Given the description of an element on the screen output the (x, y) to click on. 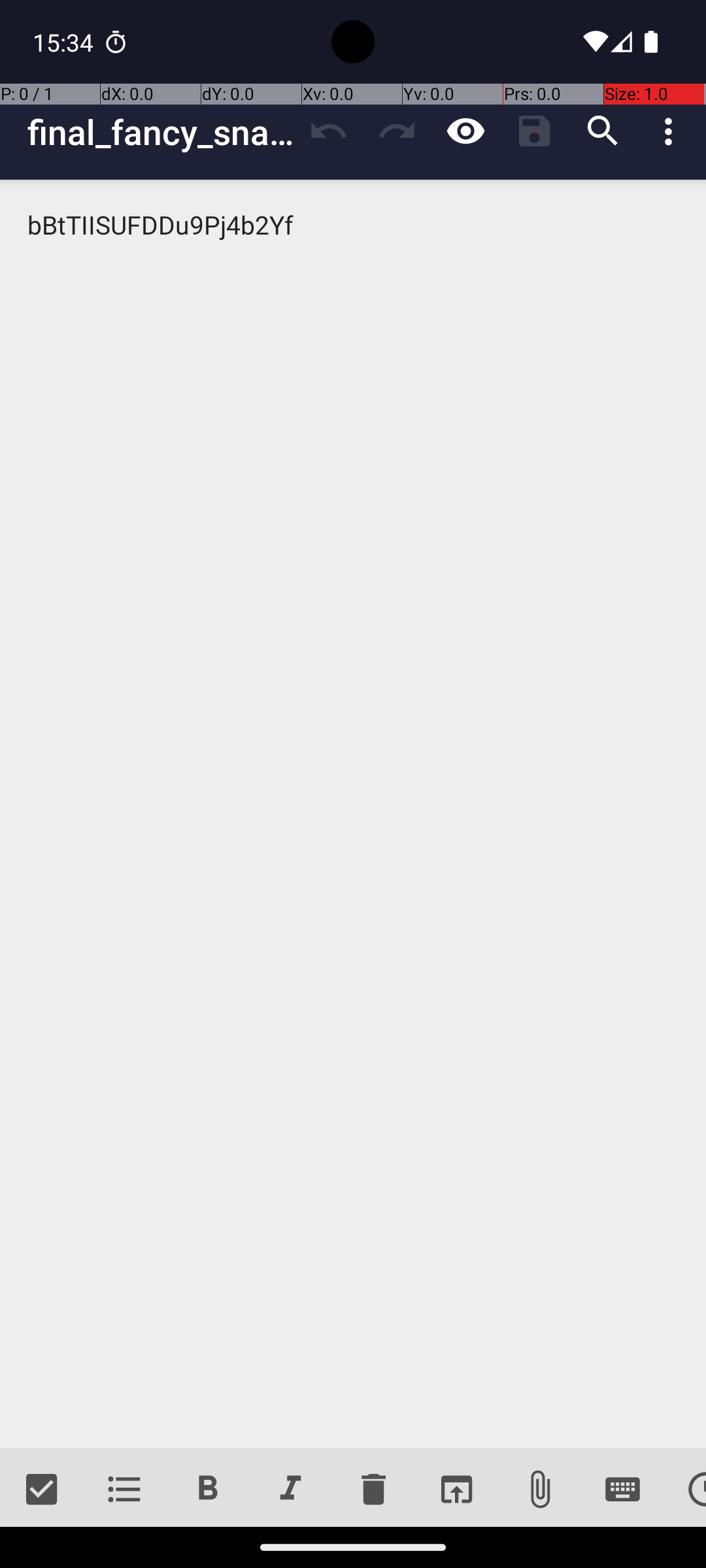
final_fancy_snake Element type: android.widget.TextView (160, 131)
bBtTIISUFDDu9Pj4b2Yf
 Element type: android.widget.EditText (353, 813)
